Given the description of an element on the screen output the (x, y) to click on. 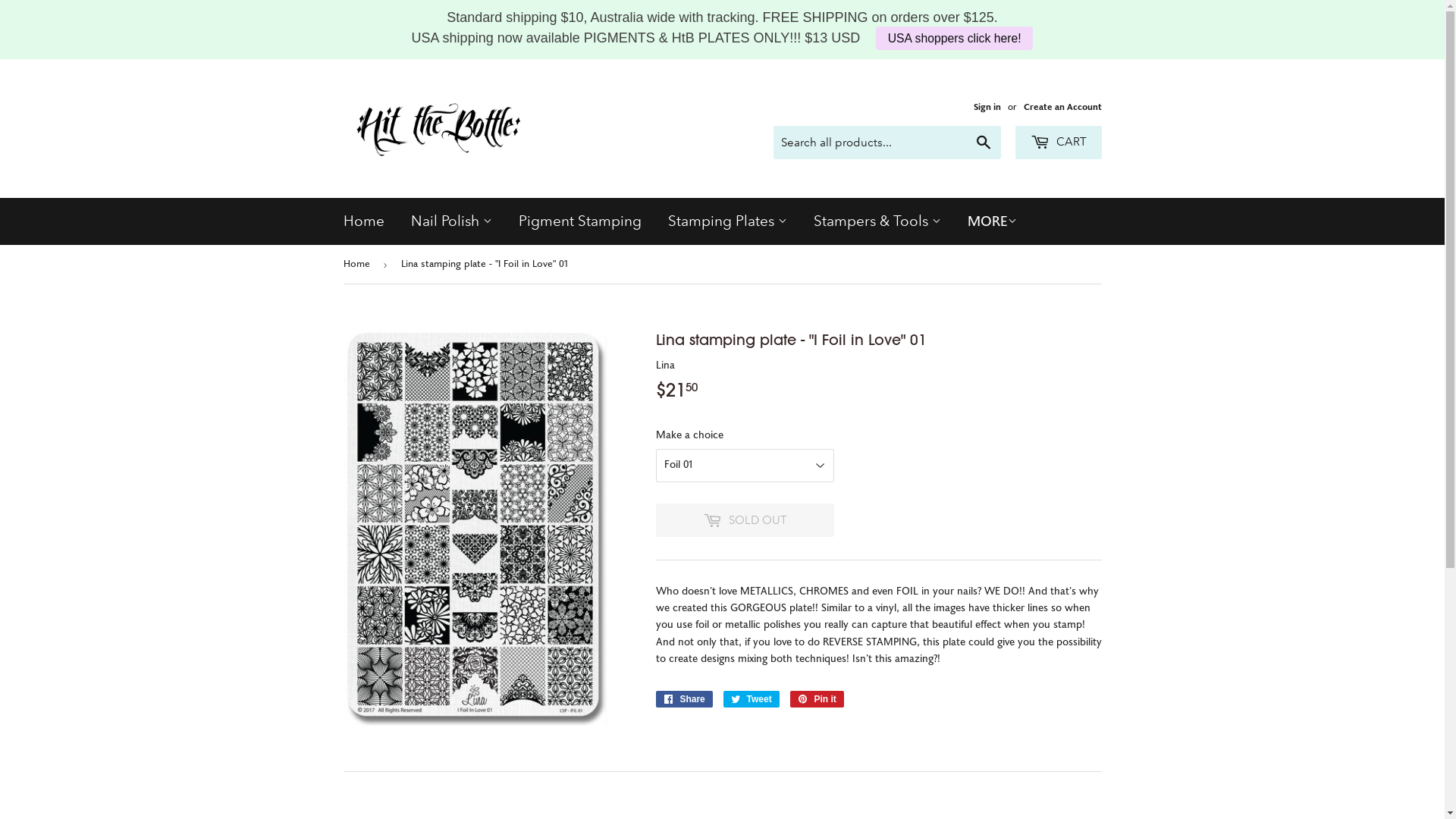
Tweet
Tweet on Twitter Element type: text (751, 698)
Nail Polish Element type: text (450, 220)
Sign in Element type: text (987, 106)
SOLD OUT Element type: text (744, 519)
Pigment Stamping Element type: text (579, 220)
Share
Share on Facebook Element type: text (683, 698)
CART Element type: text (1057, 142)
Home Element type: text (358, 263)
USA shoppers click here! Element type: text (953, 37)
Search Element type: text (983, 143)
Home Element type: text (363, 220)
Pin it
Pin on Pinterest Element type: text (817, 698)
Stampers & Tools Element type: text (877, 220)
Create an Account Element type: text (1062, 106)
Stamping Plates Element type: text (727, 220)
MORE Element type: text (991, 221)
